Given the description of an element on the screen output the (x, y) to click on. 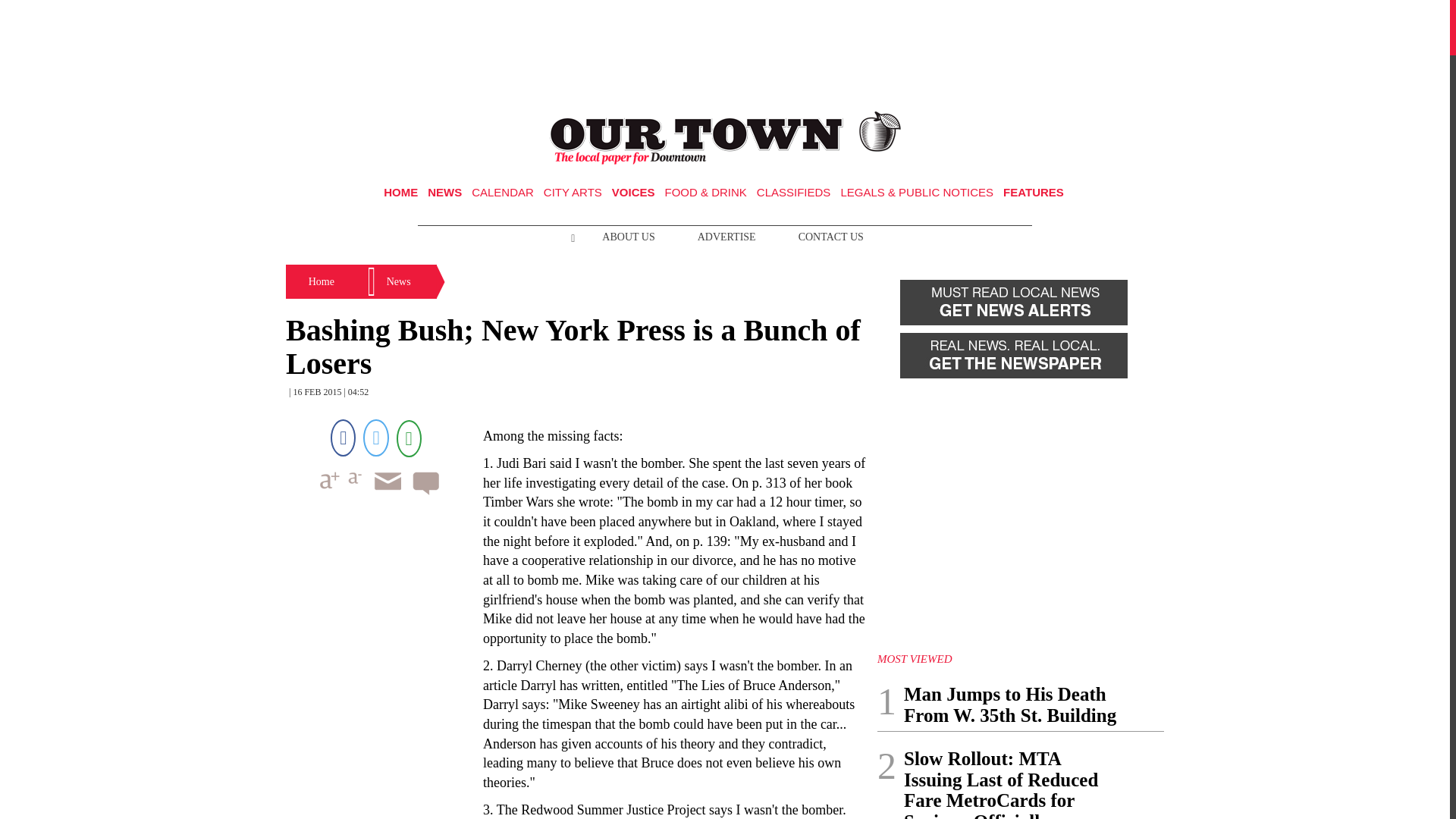
CALENDAR (502, 192)
ABOUT US (627, 236)
VOICES (633, 192)
CITY ARTS (572, 192)
FEATURES (1033, 192)
ADVERTISE (726, 236)
3rd party ad content (724, 49)
HOME (400, 192)
NEWS (444, 192)
CONTACT US (831, 236)
